Given the description of an element on the screen output the (x, y) to click on. 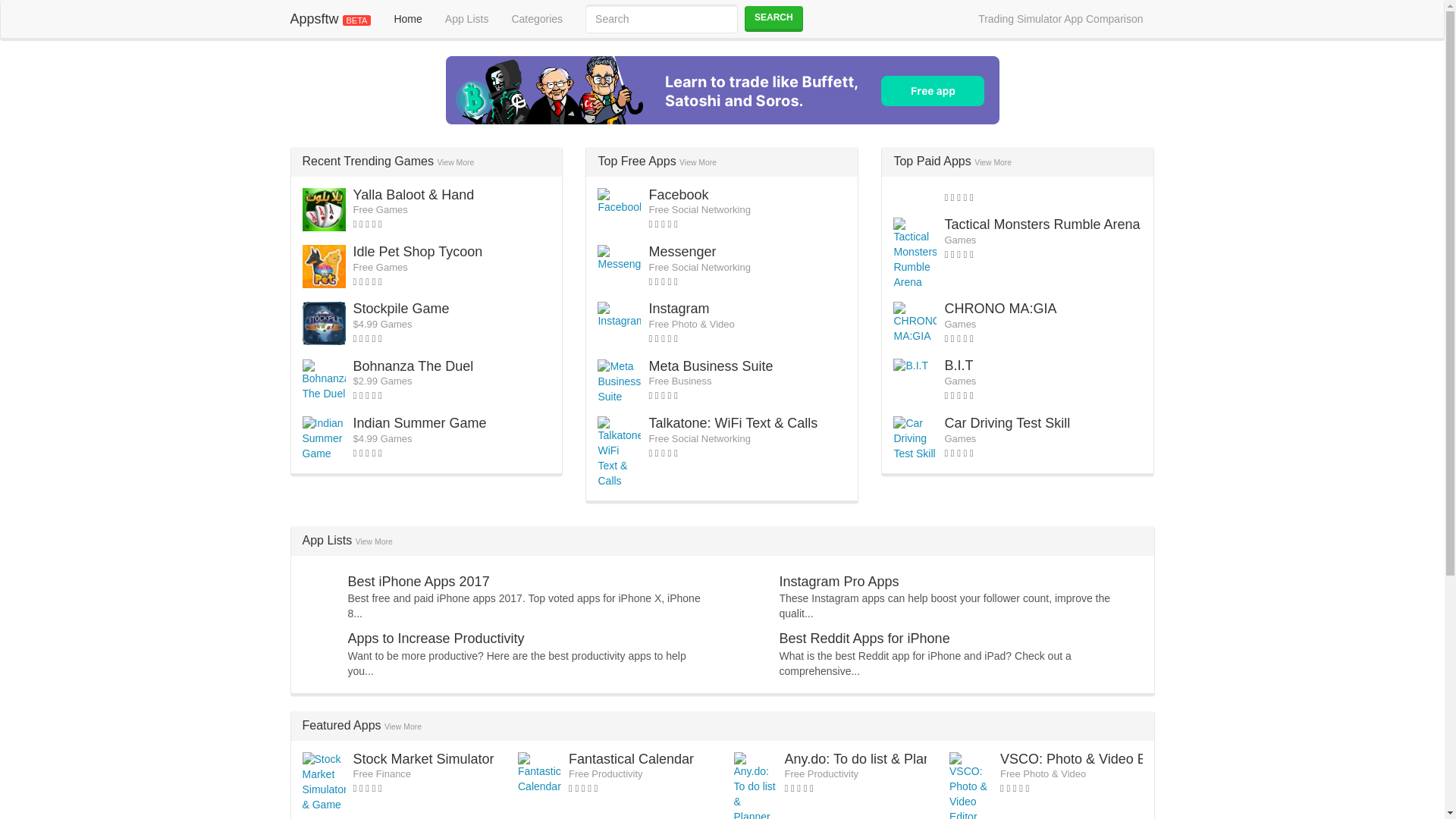
Best iPhone Apps 2017 (418, 581)
Home (406, 18)
Trading Simulator App Comparison (1060, 18)
Meta Business Suite (710, 365)
B.I.T (957, 365)
View Meta Business Suite (710, 365)
View Idle Pet Shop Tycoon (418, 251)
Stockpile Game (401, 308)
Recent Trending Games View More (387, 160)
Indian Summer Game (419, 422)
Instagram Pro Apps (838, 581)
App Lists (466, 18)
View B.I.T (957, 365)
Instagram (678, 308)
Idle Pet Shop Tycoon (418, 251)
